Given the description of an element on the screen output the (x, y) to click on. 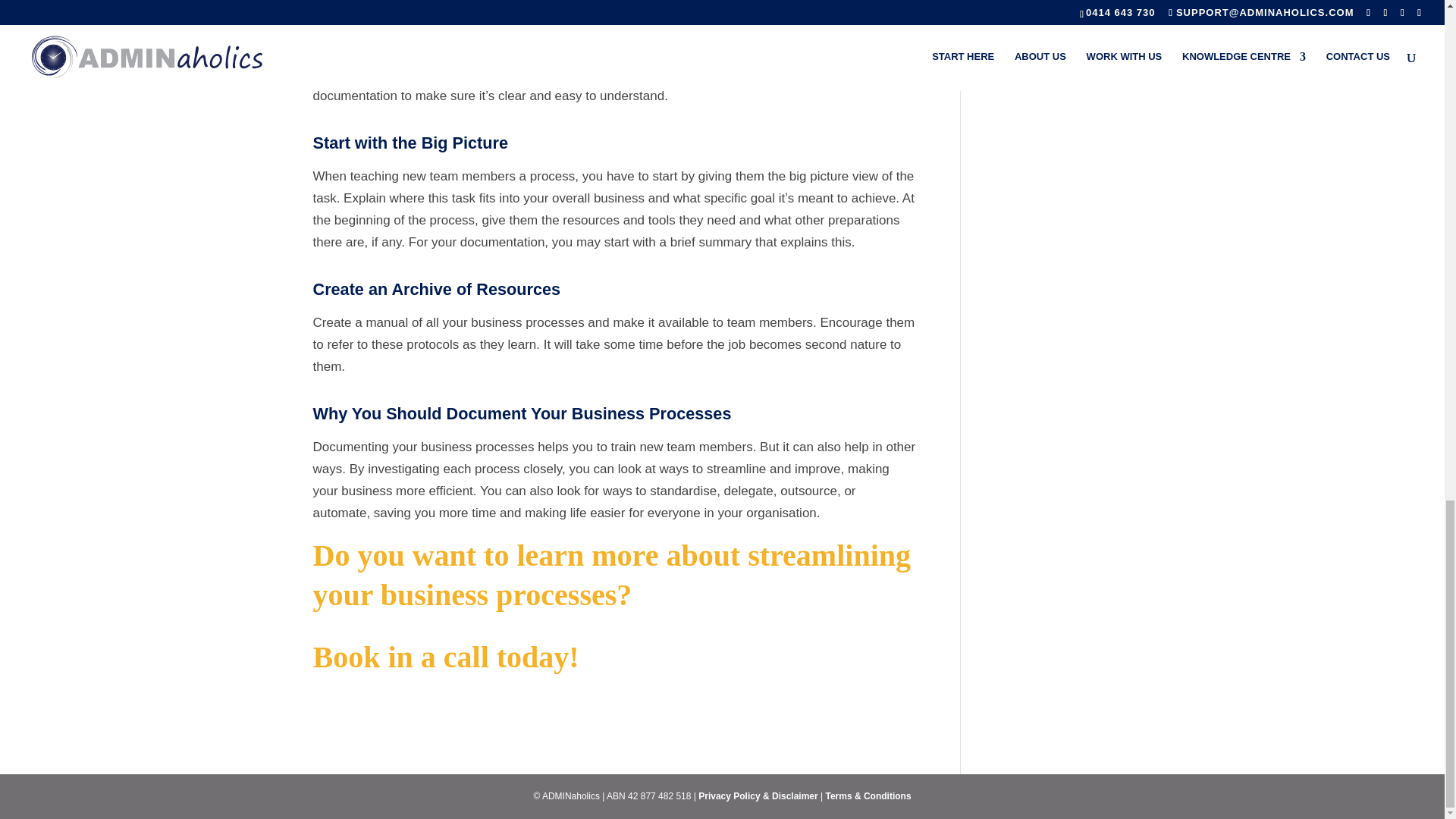
Book in a call today! (445, 656)
